Given the description of an element on the screen output the (x, y) to click on. 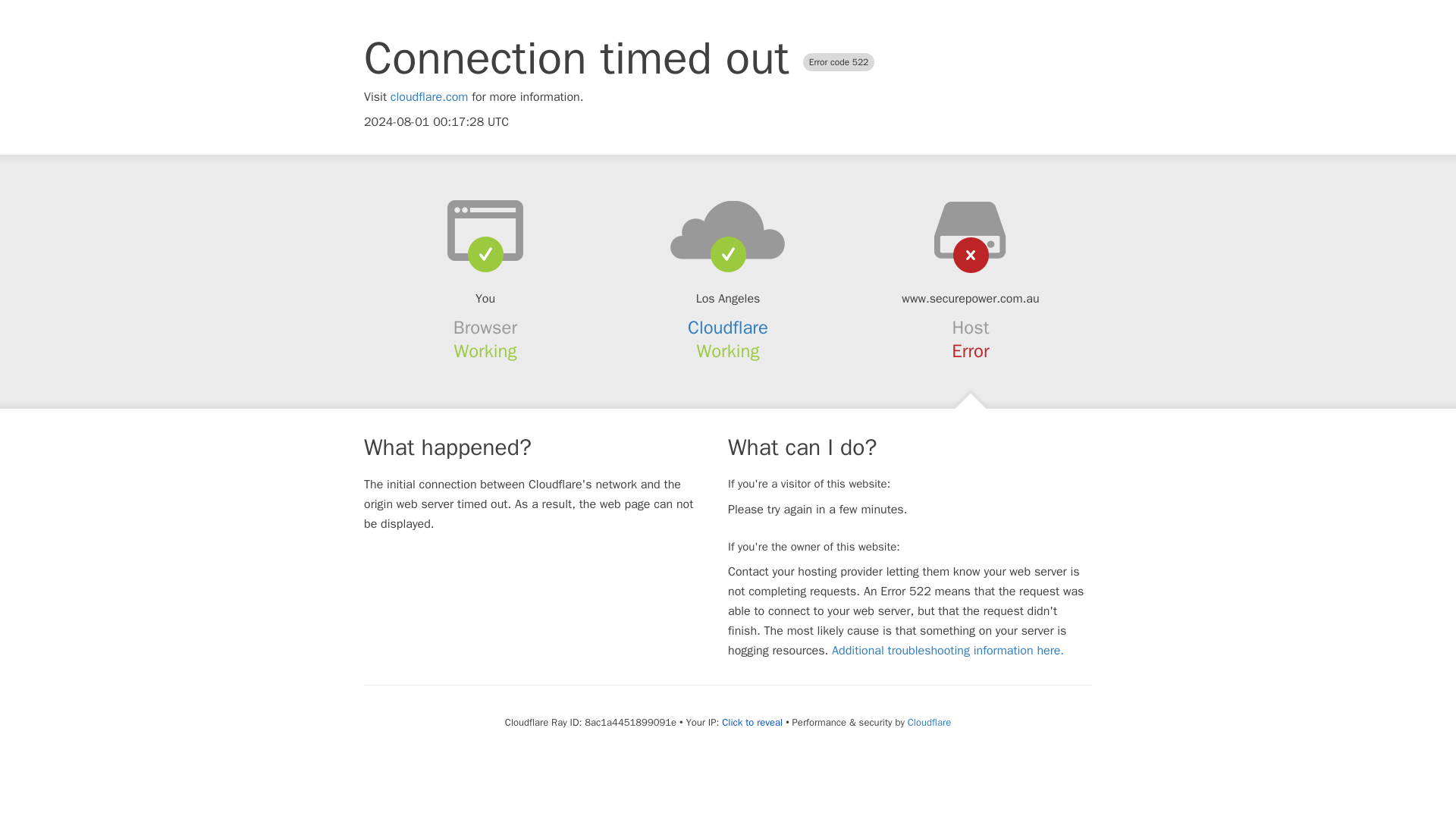
Click to reveal (752, 722)
Cloudflare (727, 327)
Cloudflare (928, 721)
cloudflare.com (429, 96)
Additional troubleshooting information here. (947, 650)
